Given the description of an element on the screen output the (x, y) to click on. 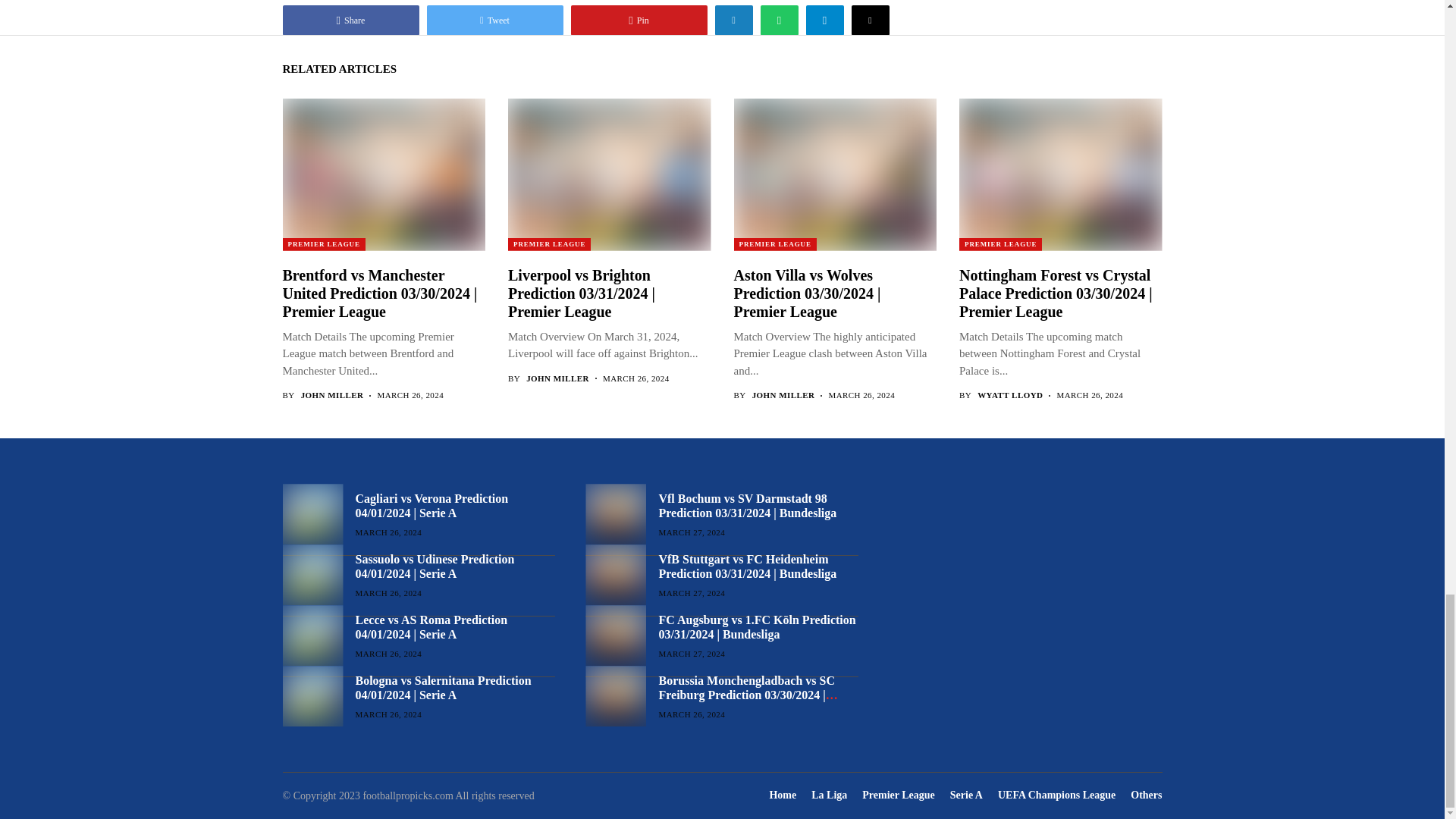
Posts by John Miller (557, 378)
Posts by John Miller (783, 395)
Posts by John Miller (332, 395)
Posts by Wyatt Lloyd (1009, 395)
